Given the description of an element on the screen output the (x, y) to click on. 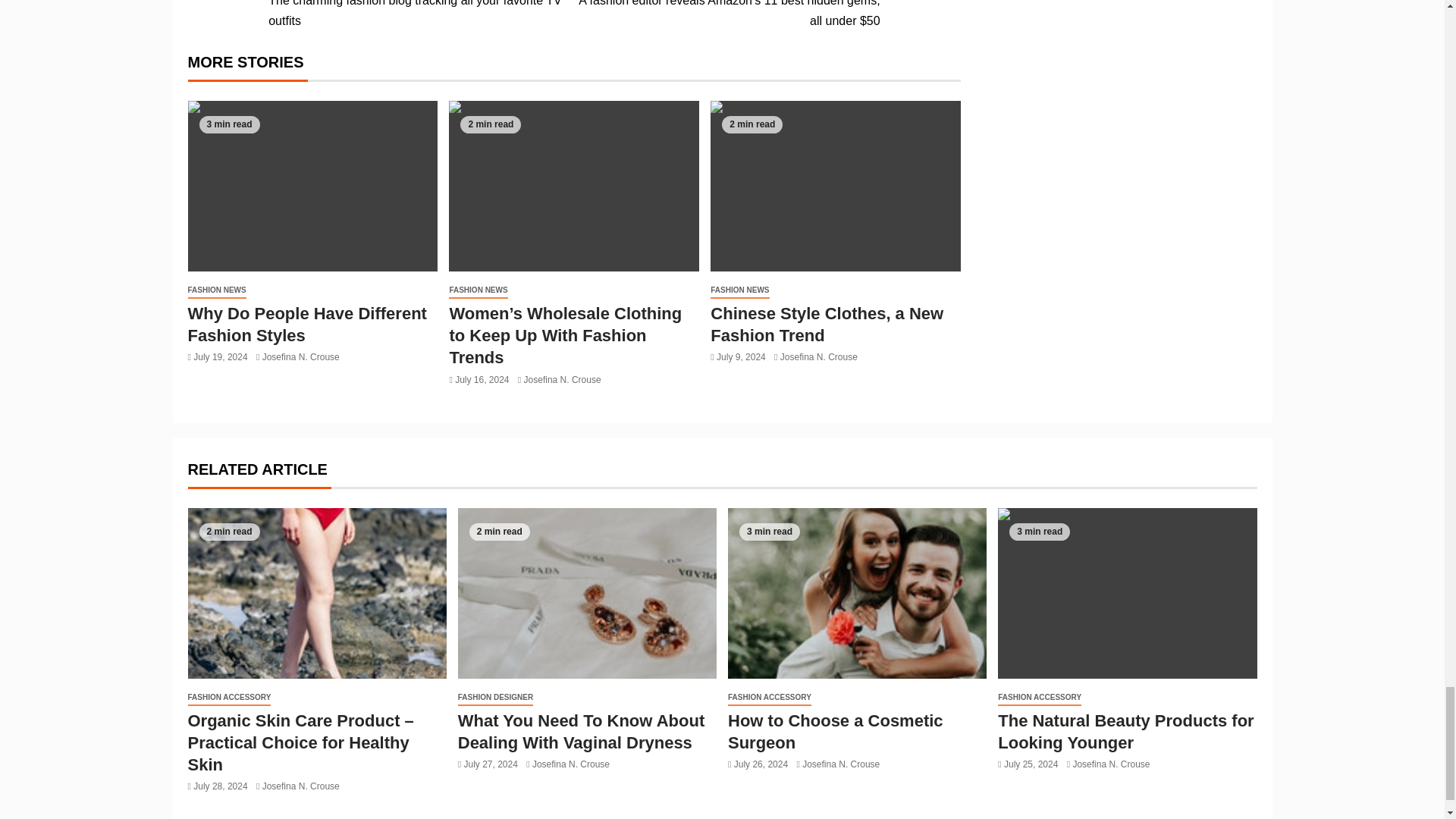
Chinese Style Clothes, a New Fashion Trend (835, 185)
Why Do People Have Different Fashion Styles (312, 185)
